Given the description of an element on the screen output the (x, y) to click on. 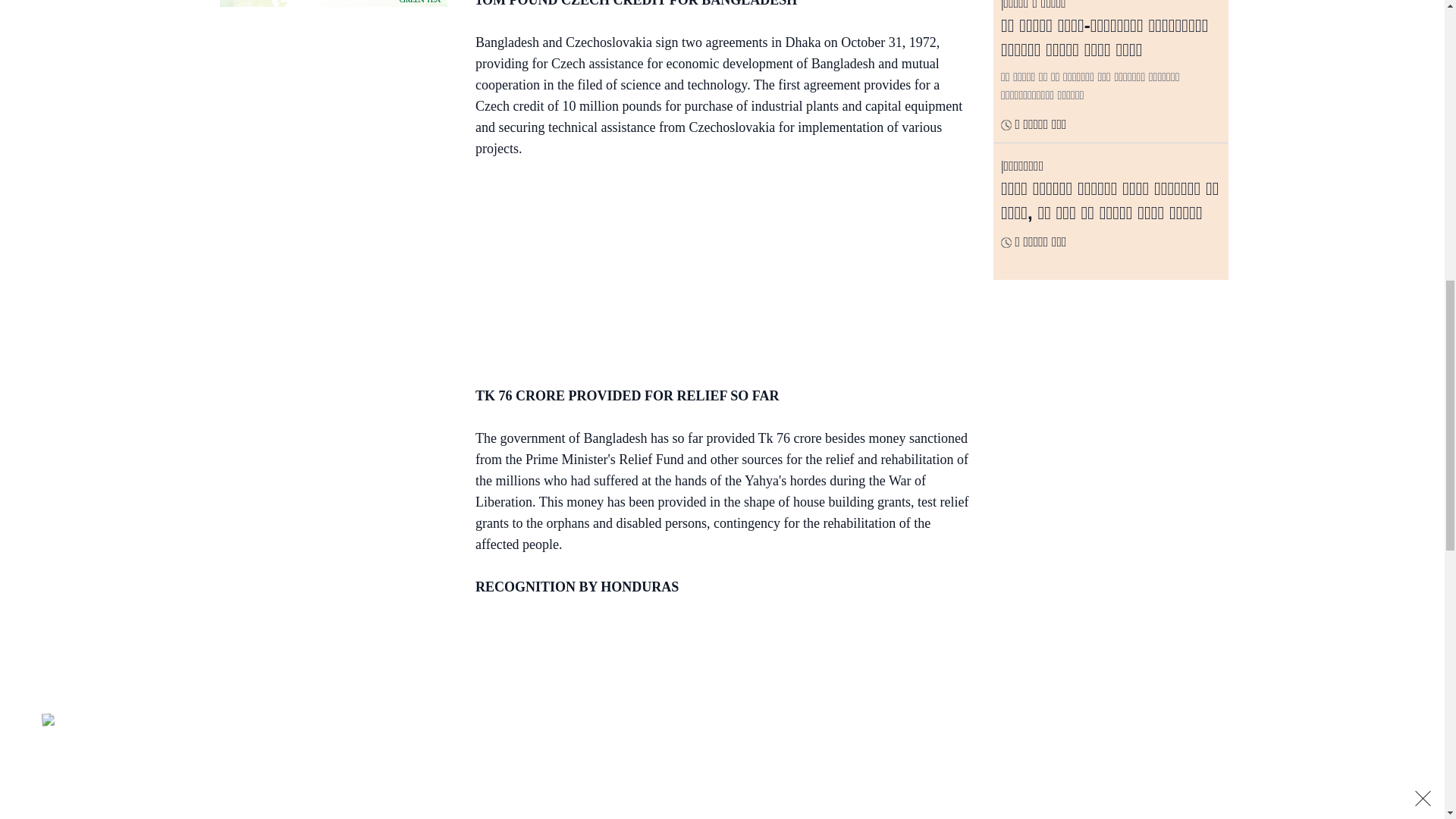
3rd party ad content (332, 3)
3rd party ad content (713, 275)
3rd party ad content (713, 713)
3rd party ad content (332, 116)
